Given the description of an element on the screen output the (x, y) to click on. 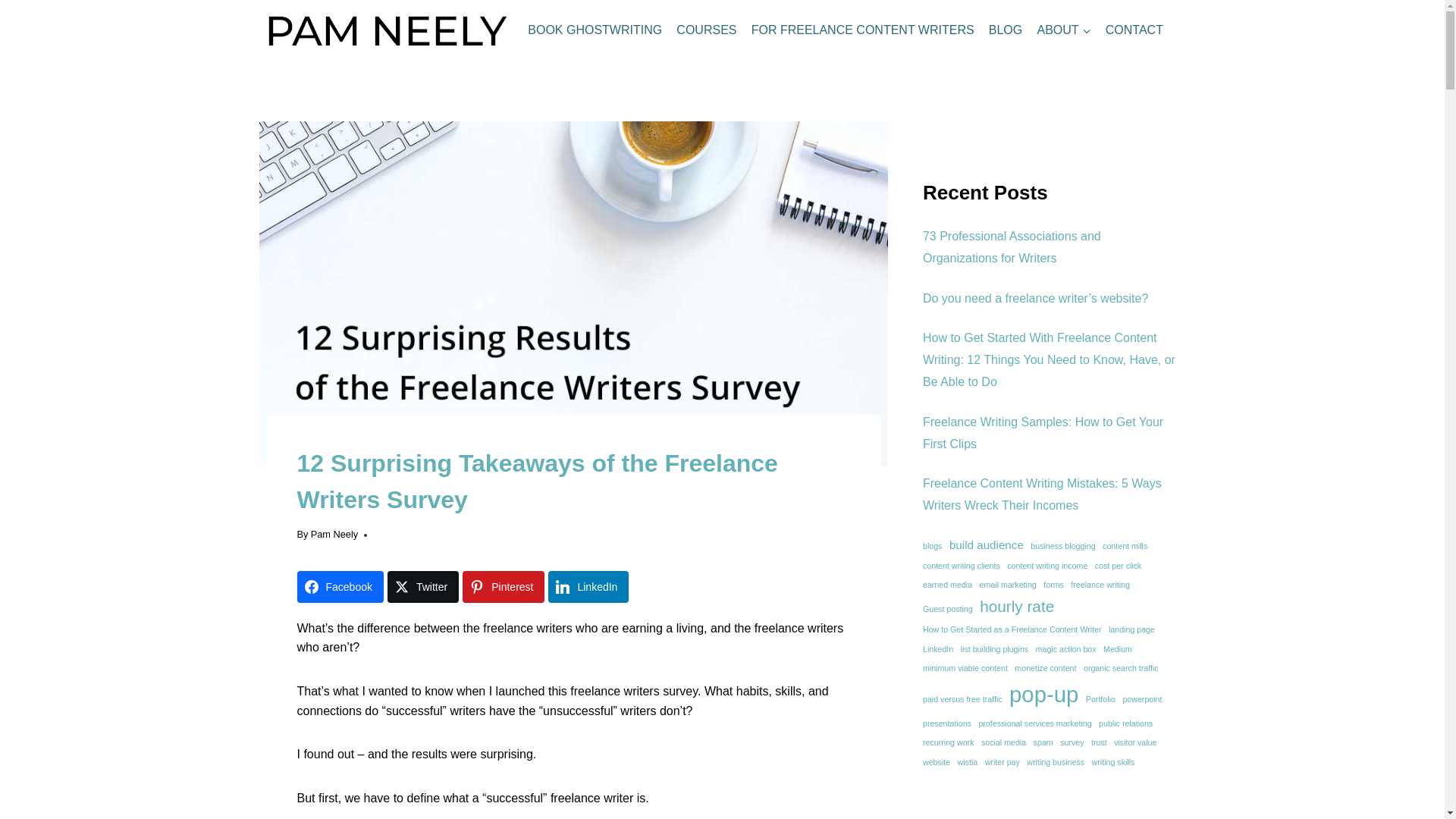
LinkedIn (588, 586)
Share on Twitter (422, 586)
CONTACT (1133, 30)
BLOG (1005, 30)
Pinterest (503, 586)
Share on LinkedIn (588, 586)
BOOK GHOSTWRITING (595, 30)
ABOUT (1063, 30)
Facebook (340, 586)
Twitter (422, 586)
COURSES (706, 30)
Pam Neely (334, 533)
Share on Pinterest (503, 586)
FOR FREELANCE CONTENT WRITERS (862, 30)
Share on Facebook (340, 586)
